Given the description of an element on the screen output the (x, y) to click on. 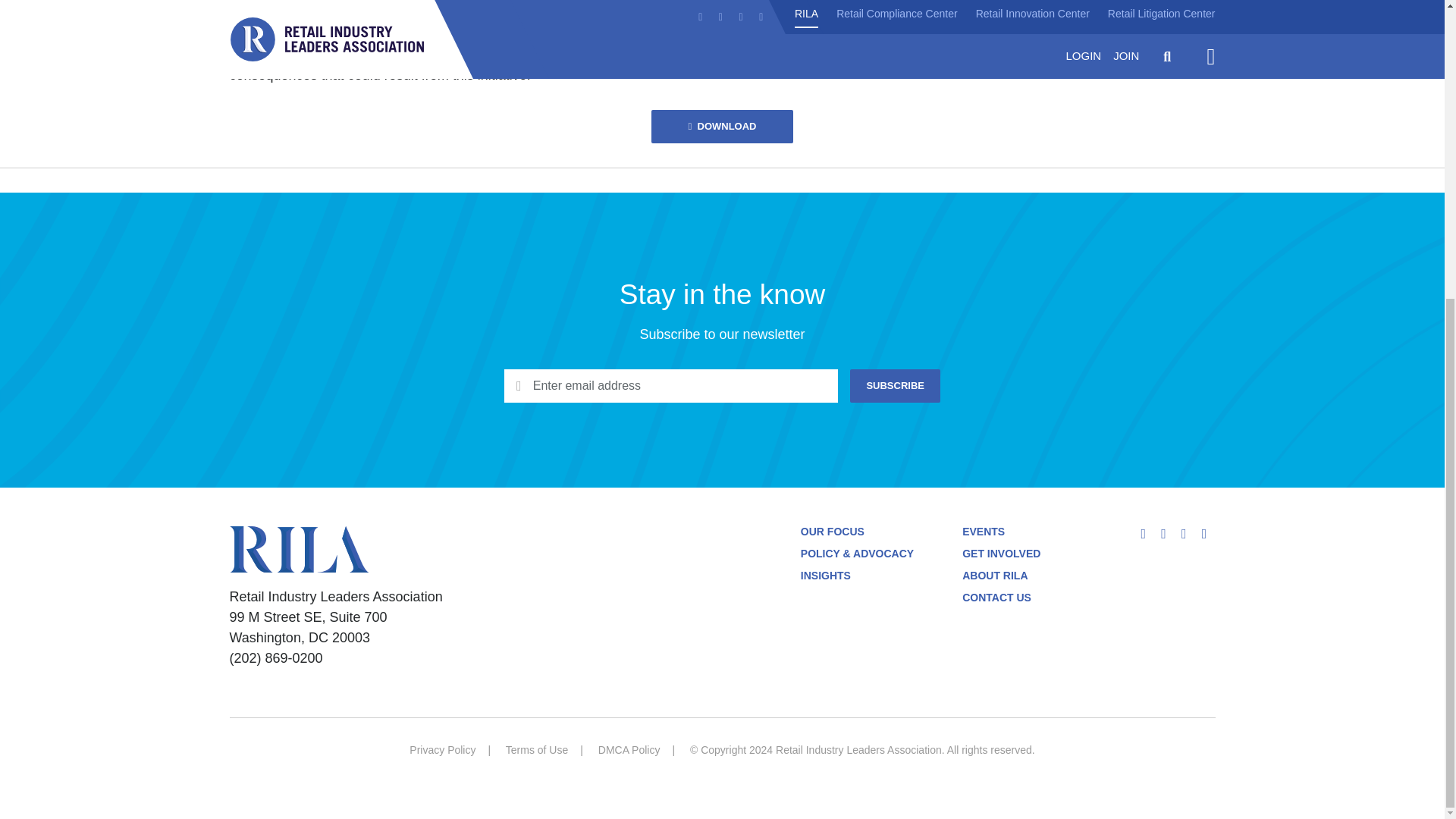
subscribe (895, 385)
